Given the description of an element on the screen output the (x, y) to click on. 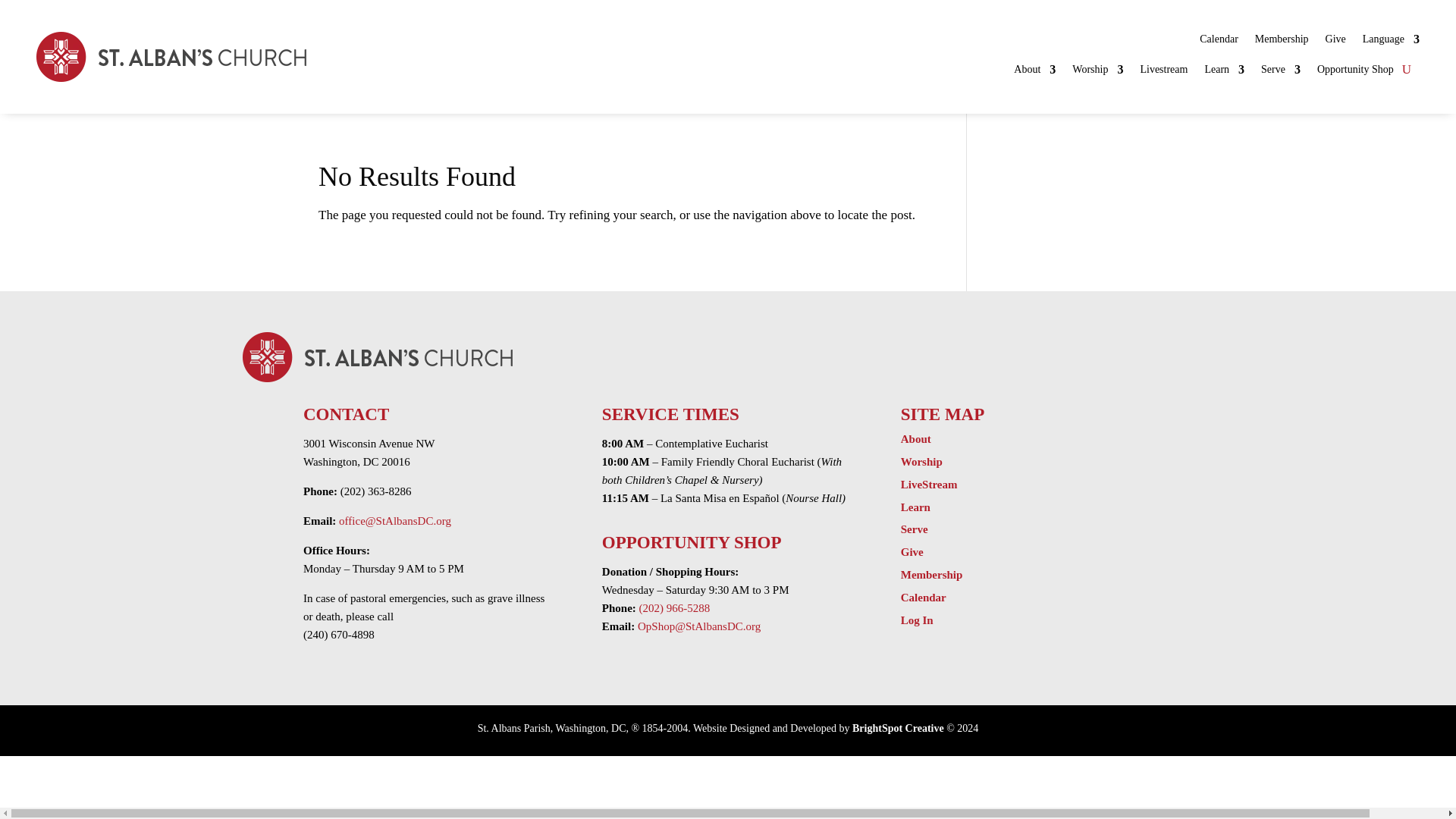
Opportunity Shop (1355, 72)
st-albans-logo (170, 56)
st-albans-logo (377, 357)
Language (1390, 42)
Membership (1281, 42)
Worship (1096, 72)
Livestream (1164, 72)
Learn (1224, 72)
Give (1334, 42)
Serve (1280, 72)
